Given the description of an element on the screen output the (x, y) to click on. 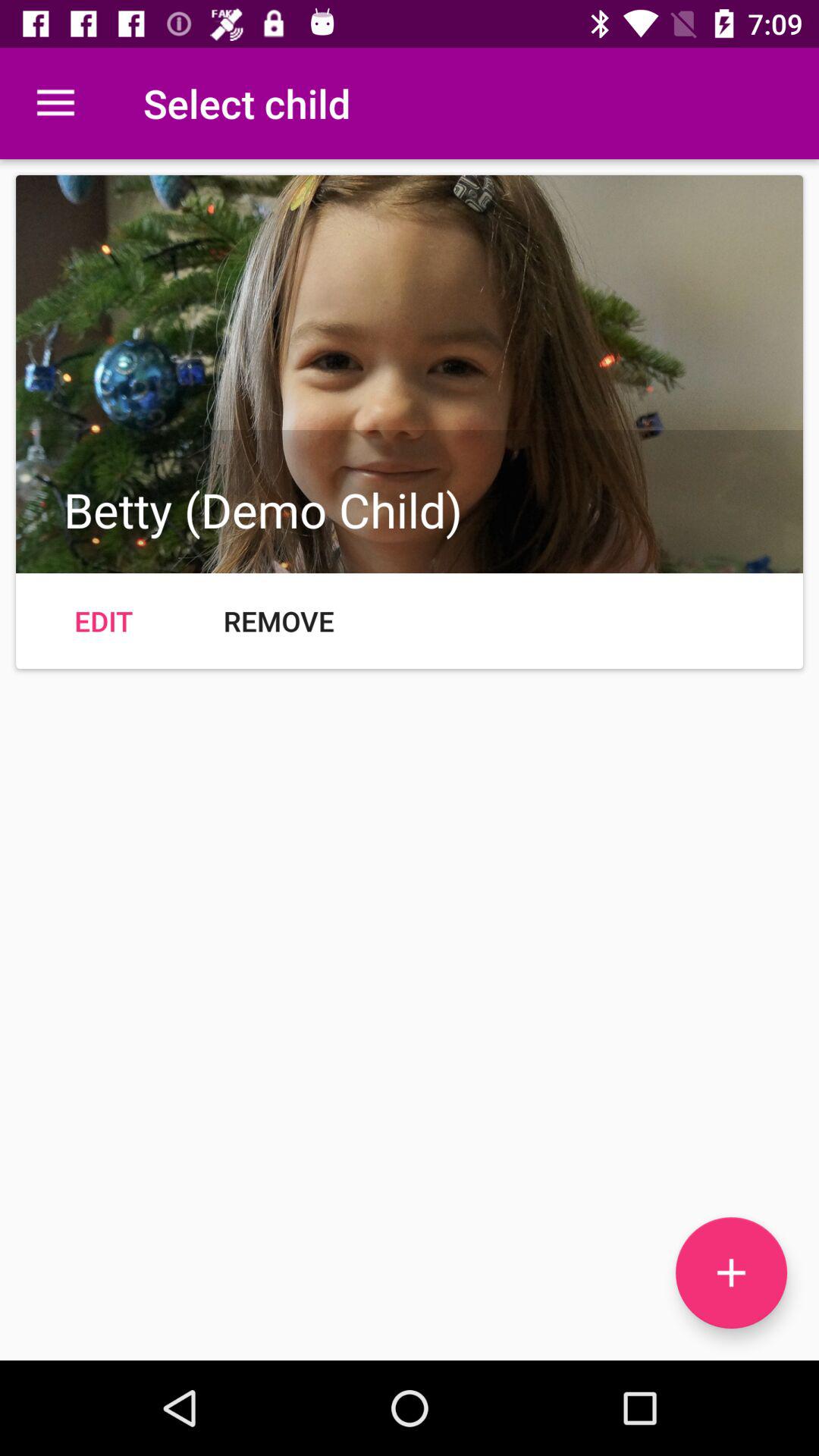
tap edit (103, 620)
